Given the description of an element on the screen output the (x, y) to click on. 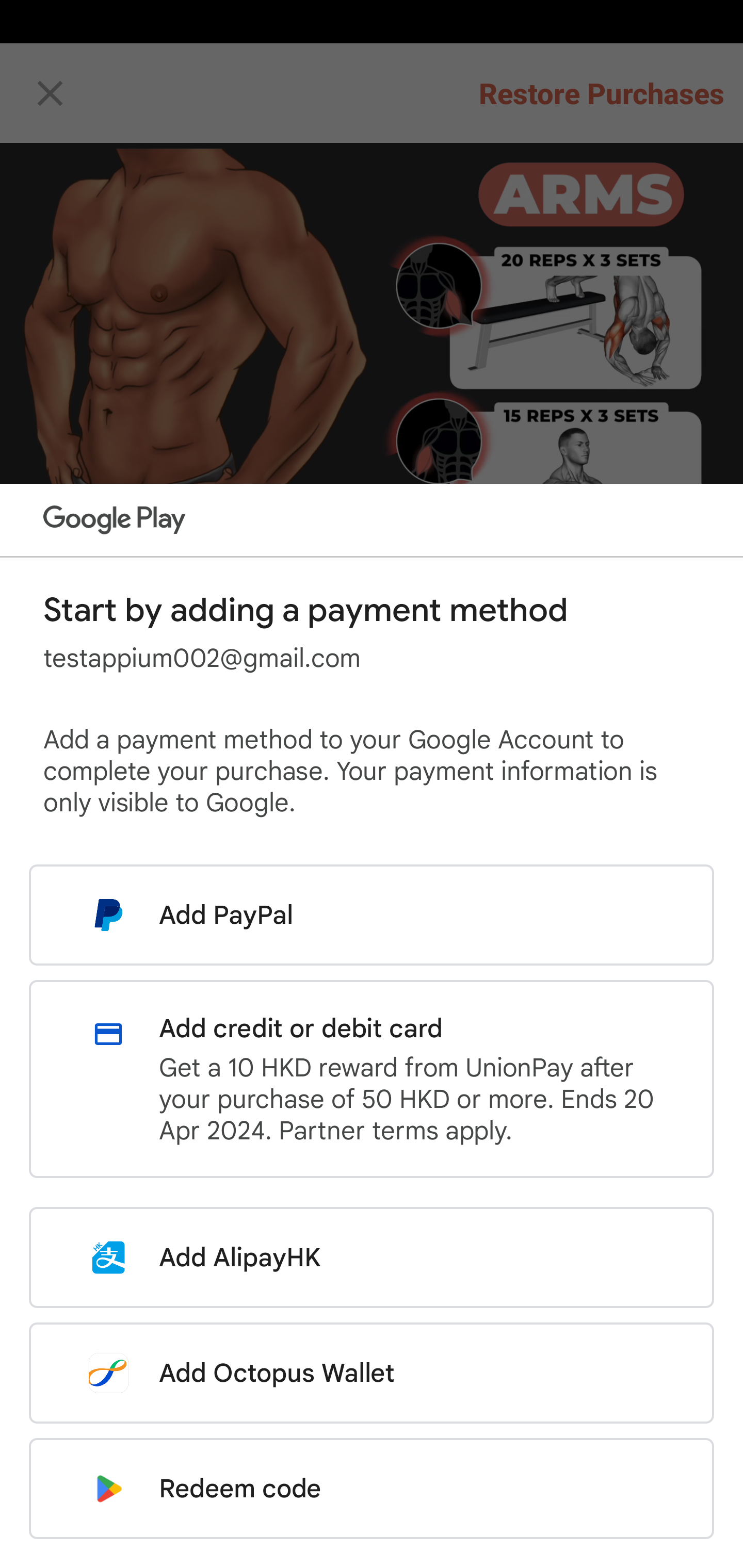
Add PayPal (371, 914)
Add AlipayHK (371, 1257)
Add Octopus Wallet (371, 1372)
Redeem code (371, 1488)
